Given the description of an element on the screen output the (x, y) to click on. 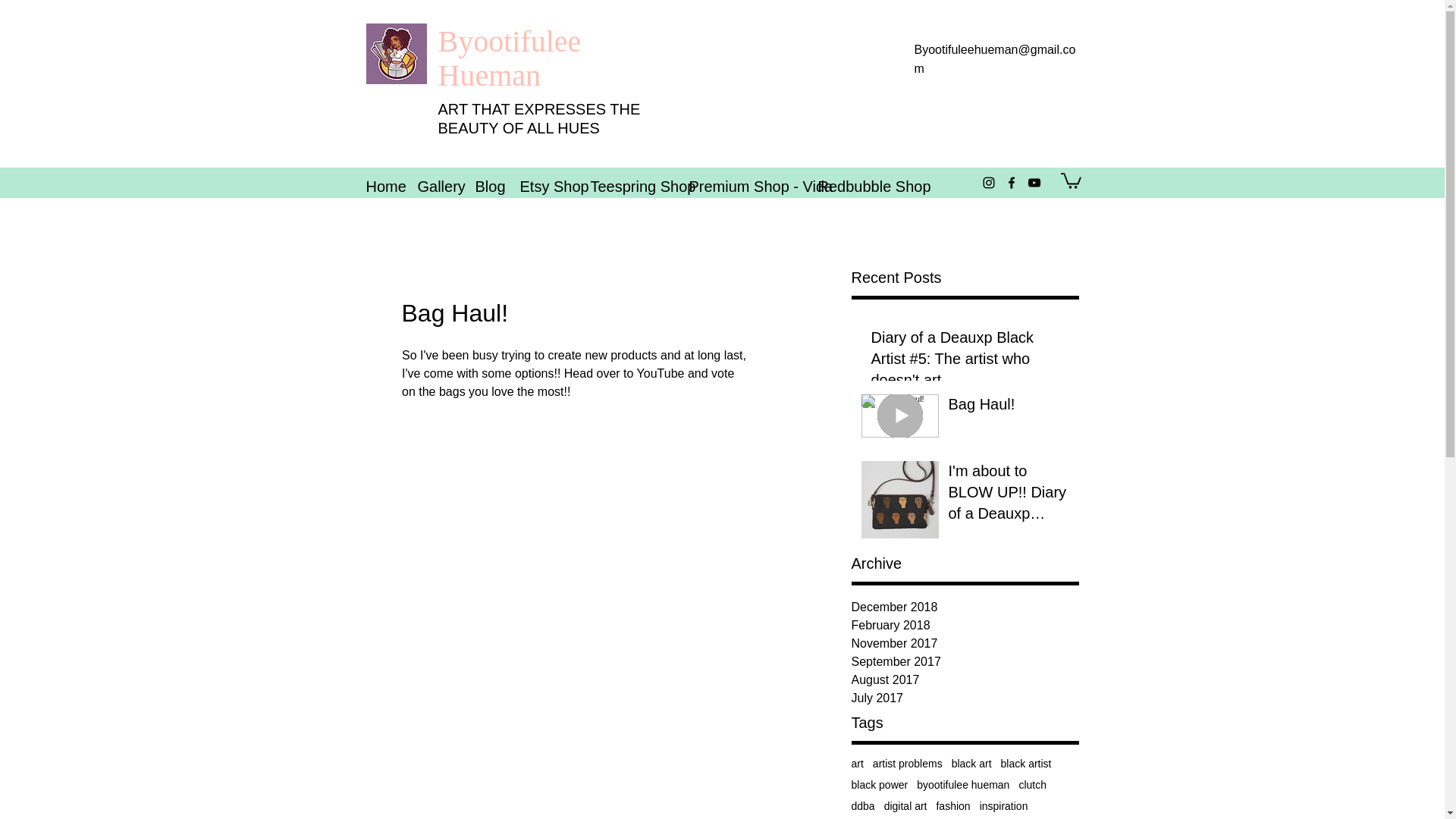
Etsy Shop (543, 186)
December 2018 (964, 607)
artist problems (907, 763)
November 2017 (964, 643)
ddba (862, 806)
Premium Shop - Vida (742, 186)
Teespring Shop (628, 186)
black power (878, 784)
September 2017 (964, 661)
clutch (1031, 784)
Bag Haul! (1007, 406)
fashion (952, 806)
black artist (1026, 763)
February 2018 (964, 625)
art (856, 763)
